Given the description of an element on the screen output the (x, y) to click on. 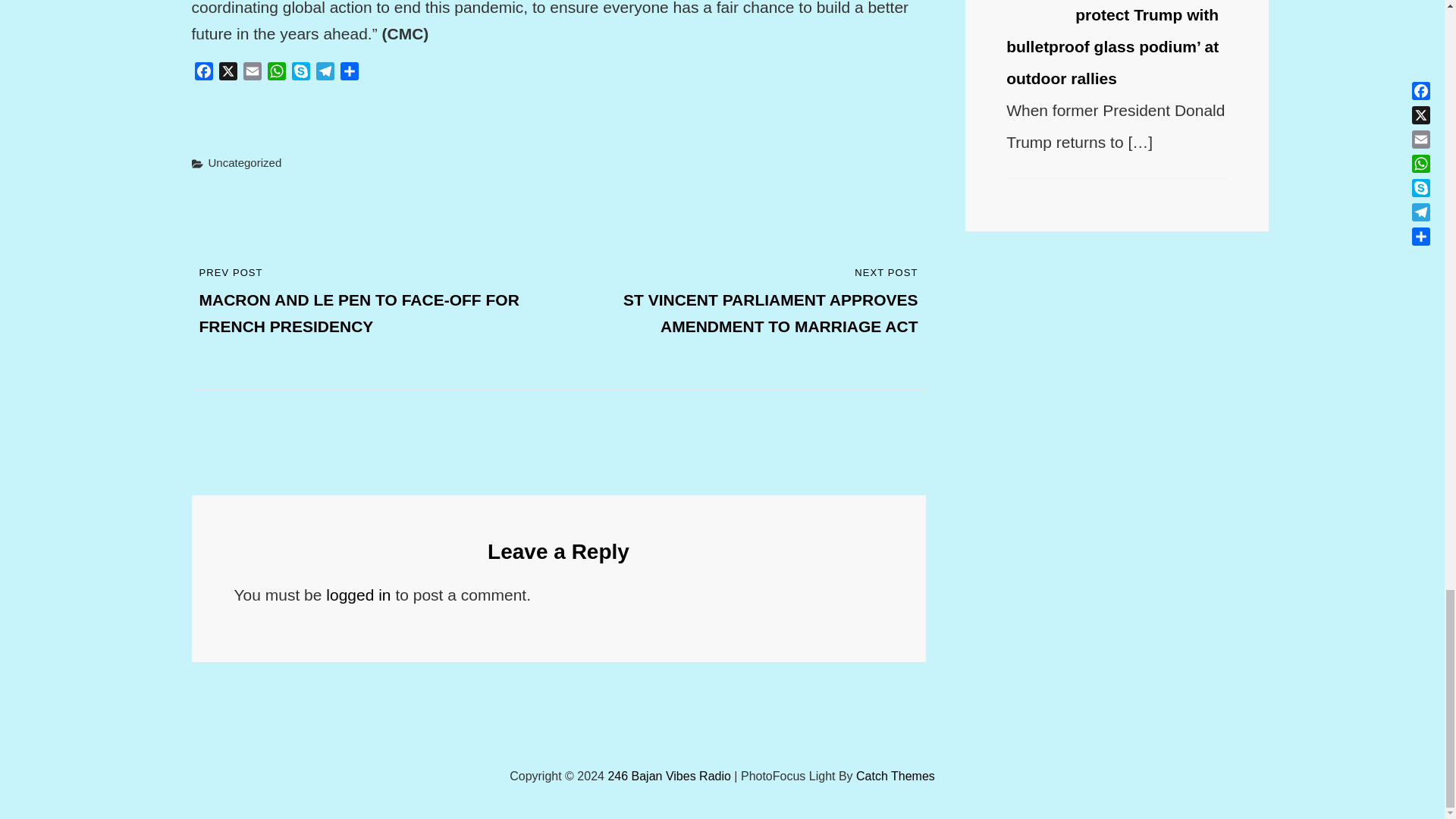
logged in (358, 594)
X (227, 73)
Email (251, 73)
X (227, 73)
Facebook (202, 73)
Telegram (324, 73)
Skype (300, 73)
Telegram (324, 73)
